Given the description of an element on the screen output the (x, y) to click on. 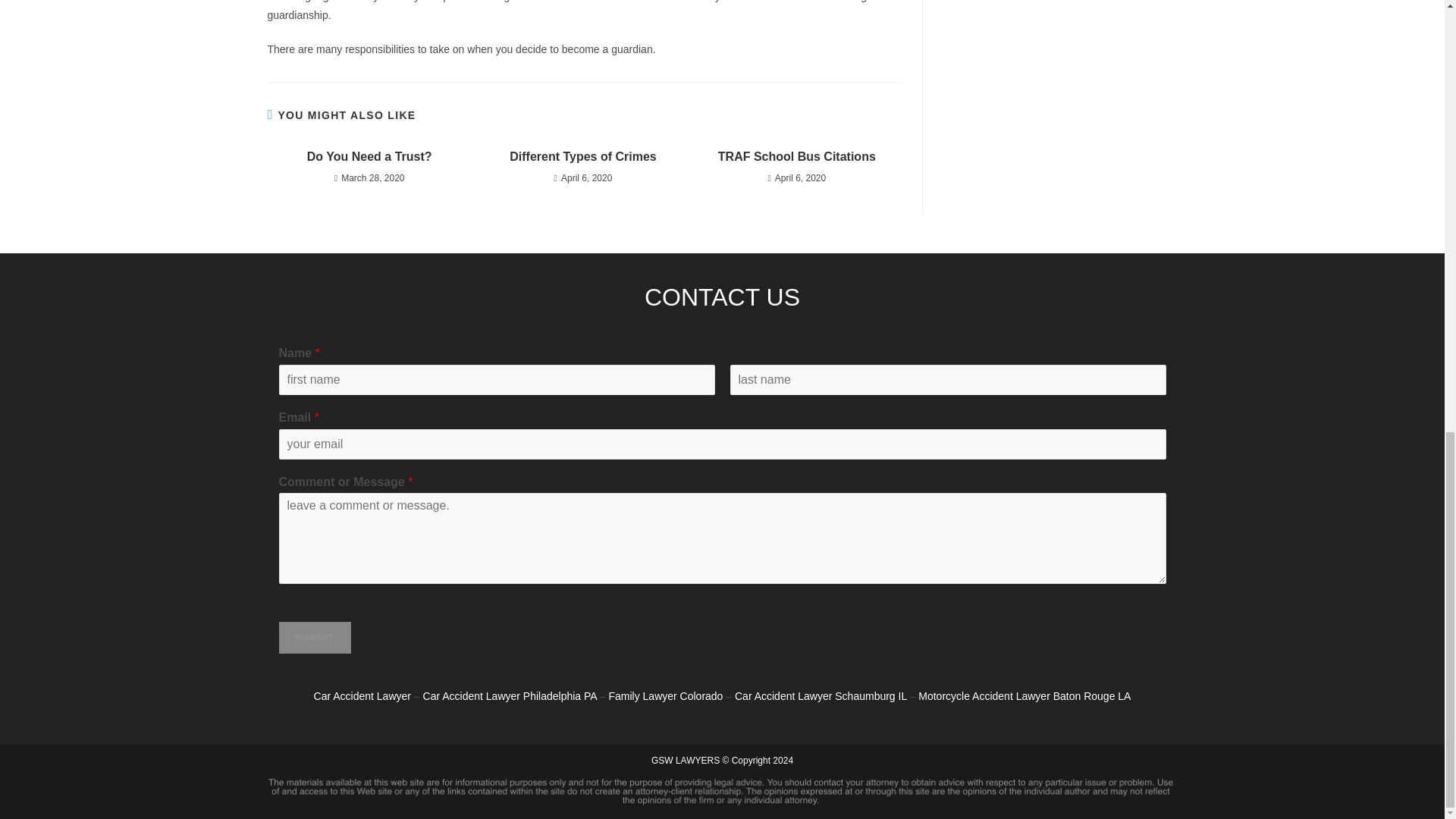
TRAF School Bus Citations (796, 156)
Family Lawyer Colorado (665, 695)
Car Accident Lawyer (362, 695)
Motorcycle Accident Lawyer Baton Rouge LA (1024, 695)
SUBMIT (314, 637)
Do You Need a Trust? (368, 156)
Different Types of Crimes (582, 156)
Car Accident Lawyer Philadelphia PA (509, 695)
Car Accident Lawyer Schaumburg IL (821, 695)
